Given the description of an element on the screen output the (x, y) to click on. 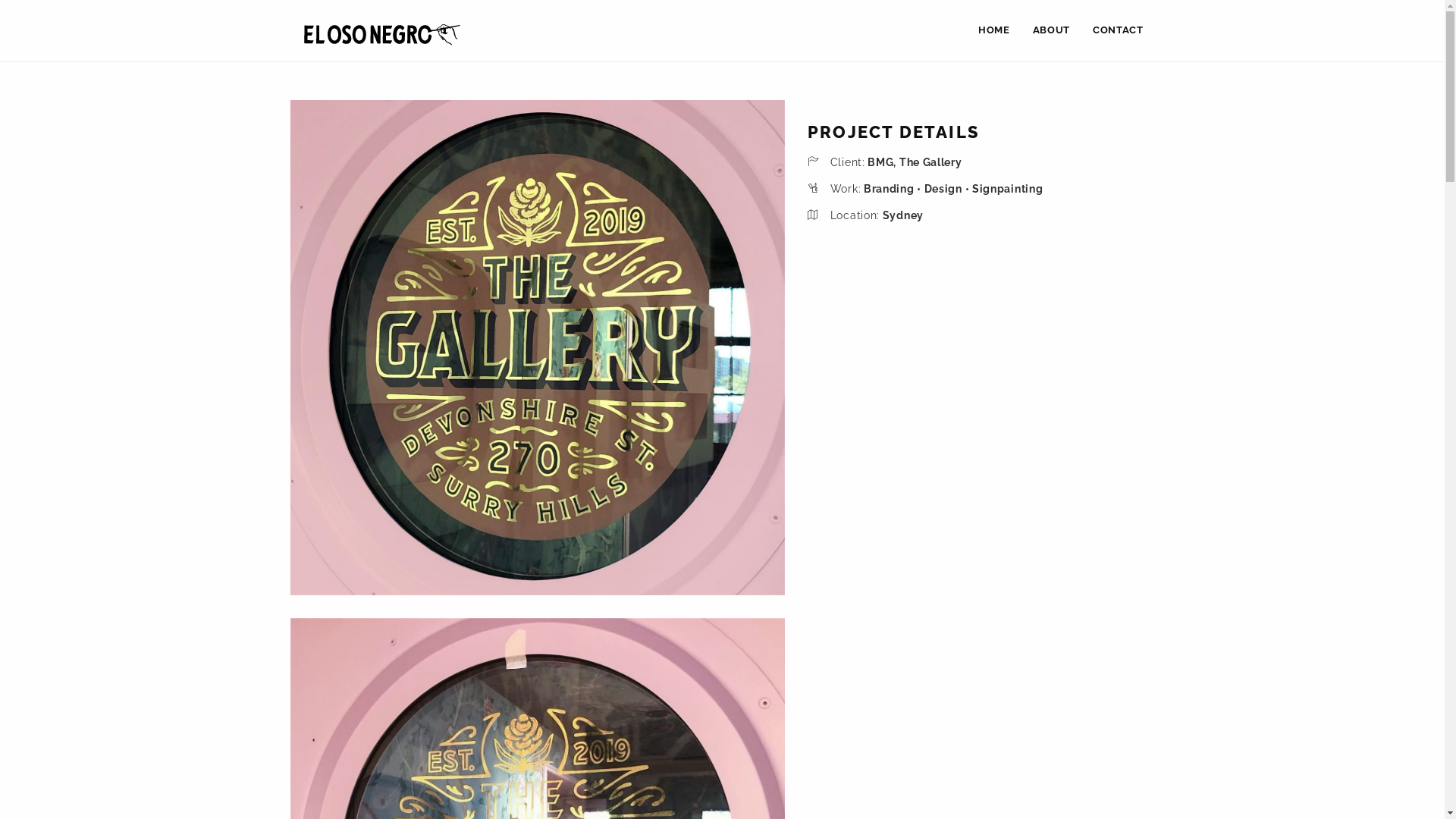
BMG, The Gallery Element type: text (913, 162)
Sydney Element type: text (901, 215)
HOME Element type: text (993, 30)
CONTACT Element type: text (1117, 30)
ABOUT Element type: text (1051, 30)
